Given the description of an element on the screen output the (x, y) to click on. 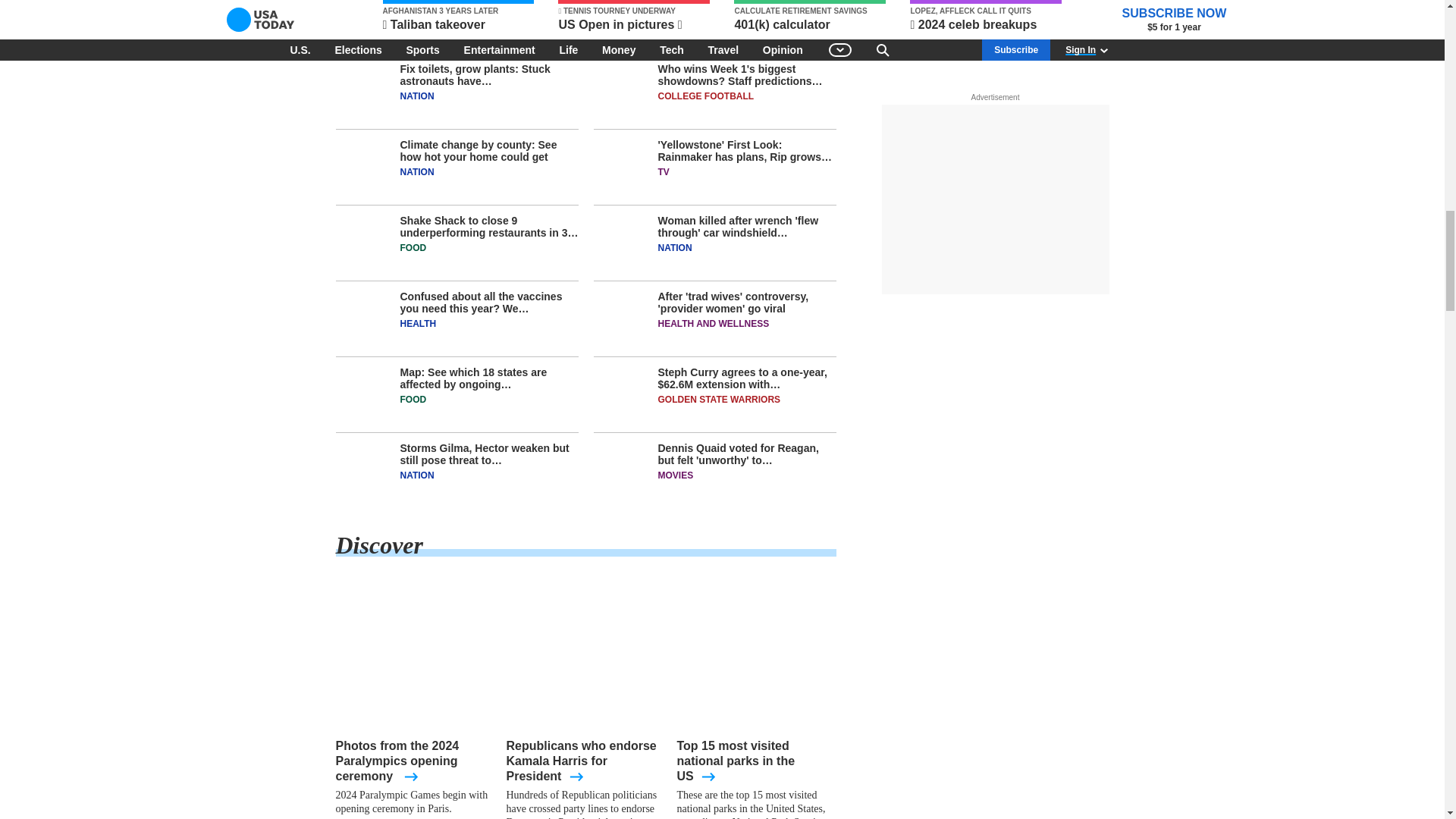
Storms Gilma, Hector weaken but still pose threat to Hawaii (456, 470)
